Given the description of an element on the screen output the (x, y) to click on. 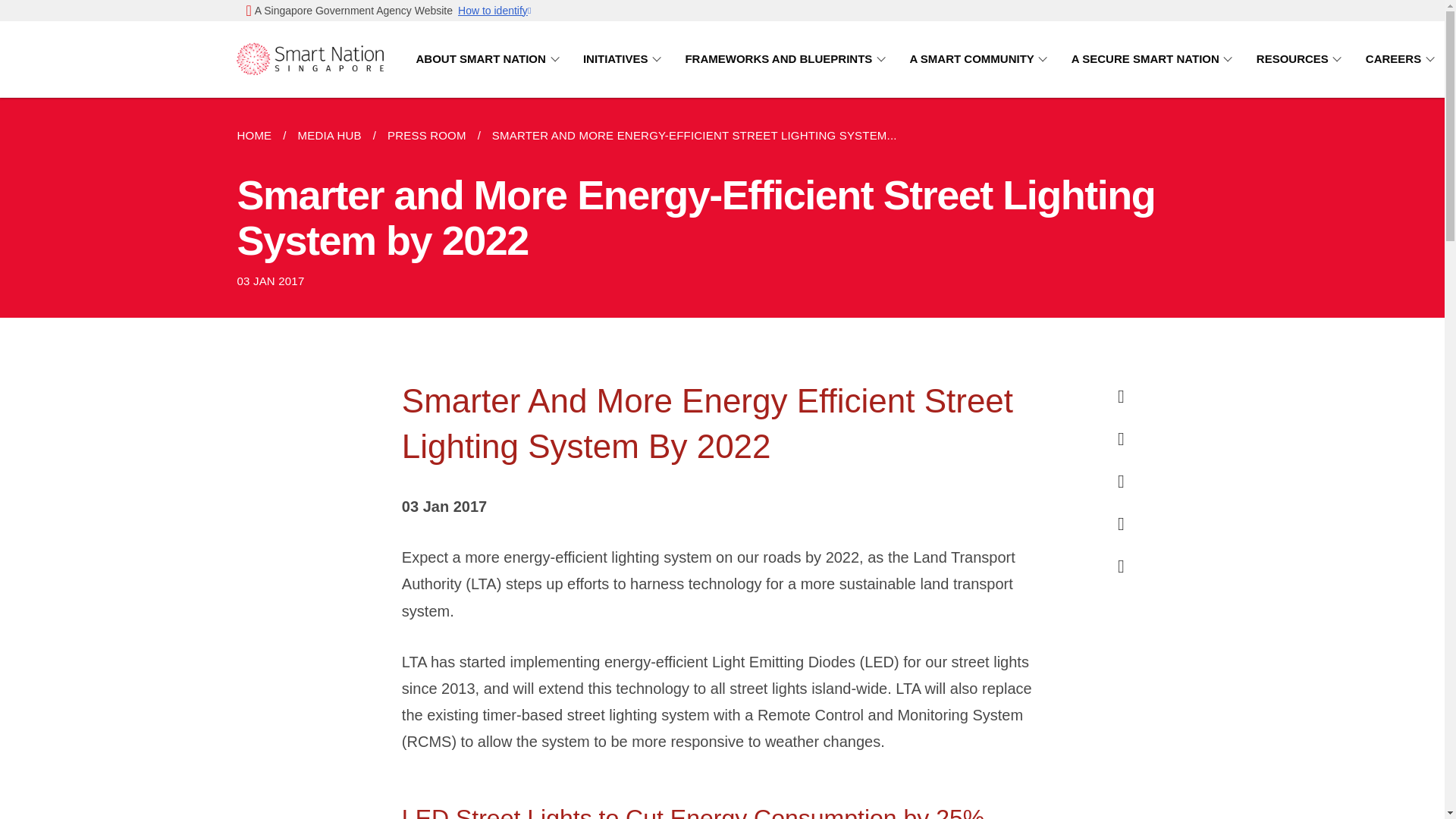
FRAMEWORKS AND BLUEPRINTS (787, 59)
A SECURE SMART NATION (1155, 59)
A SMART COMMUNITY (980, 59)
CAREERS (1402, 59)
RESOURCES (1302, 59)
ABOUT SMART NATION (489, 59)
INITIATIVES (624, 59)
